Given the description of an element on the screen output the (x, y) to click on. 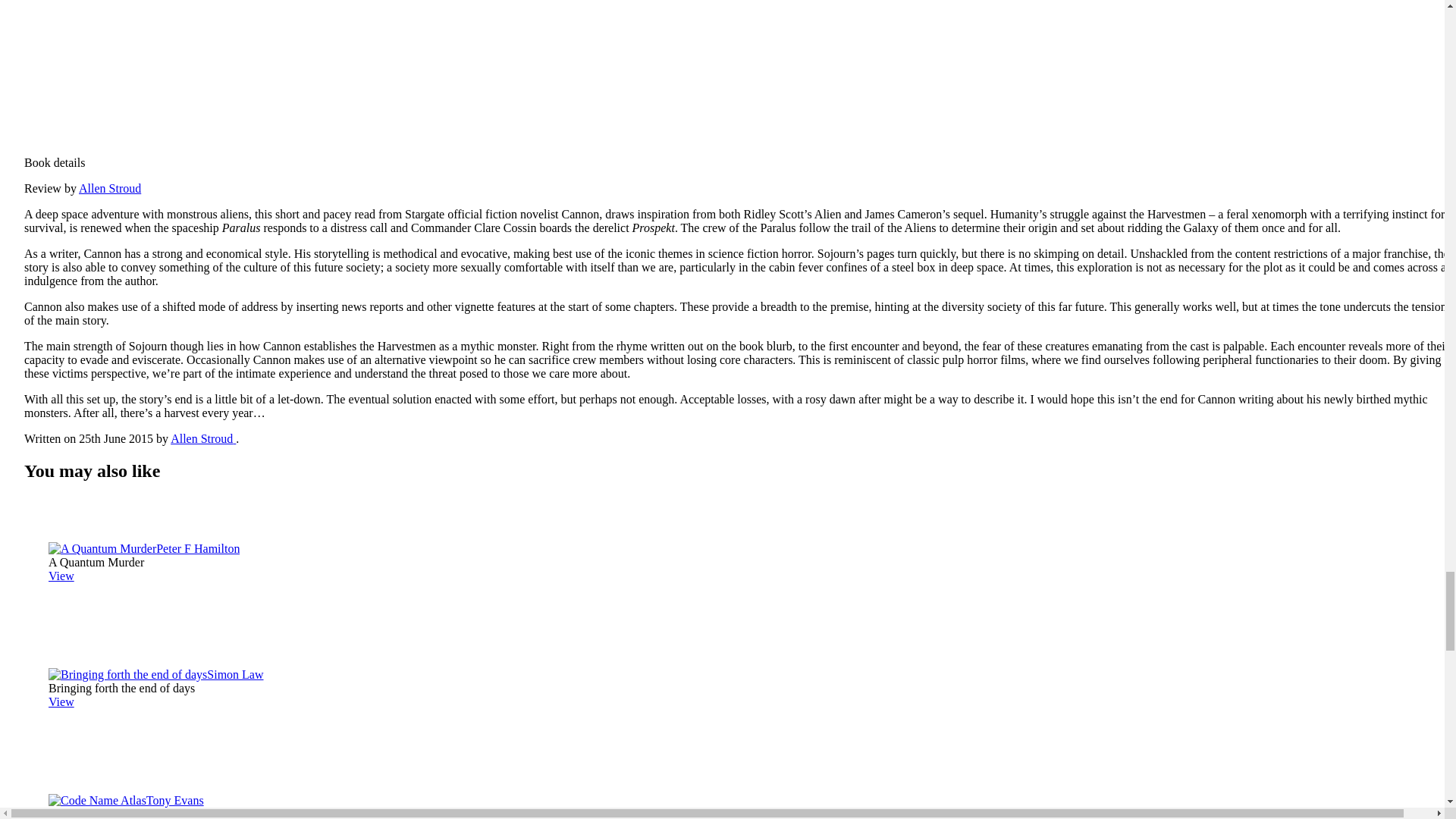
View (61, 575)
Allen Stroud (109, 187)
Book details (740, 155)
Allen Stroud (202, 438)
